Given the description of an element on the screen output the (x, y) to click on. 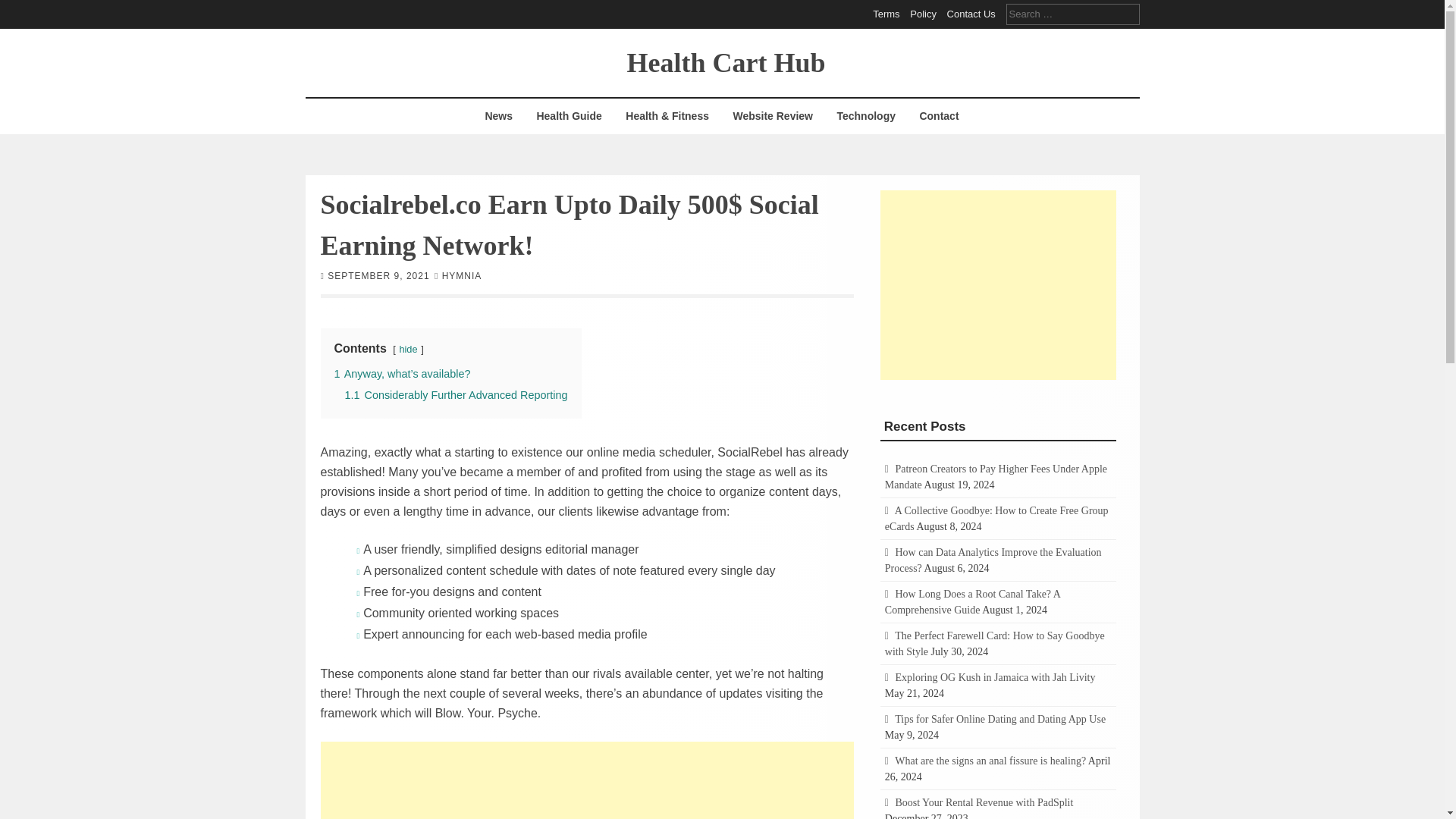
Contact (938, 116)
Policy (923, 13)
What are the signs an anal fissure is healing? (990, 760)
Exploring OG Kush in Jamaica with Jah Livity (994, 677)
Advertisement (998, 284)
The Perfect Farewell Card: How to Say Goodbye with Style (995, 643)
News (498, 116)
Health Guide (568, 116)
Boost Your Rental Revenue with PadSplit (984, 802)
HYMNIA (461, 275)
